Given the description of an element on the screen output the (x, y) to click on. 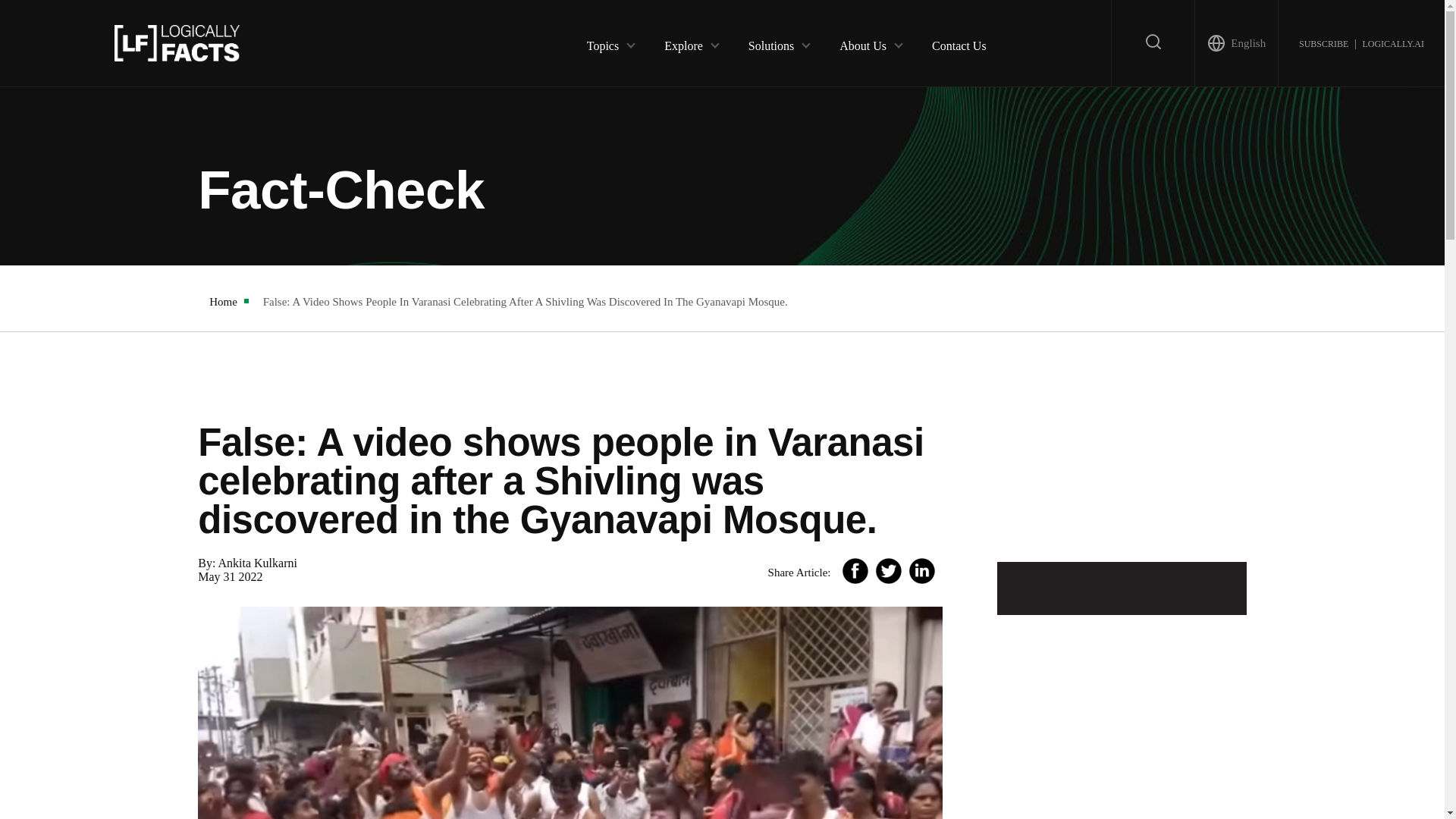
LOGICALLY.AI (1392, 42)
Home (223, 301)
Contact Us (959, 42)
Solutions (770, 42)
SUBSCRIBE (1323, 42)
Explore (683, 42)
About Us (863, 42)
Topics (602, 42)
